Given the description of an element on the screen output the (x, y) to click on. 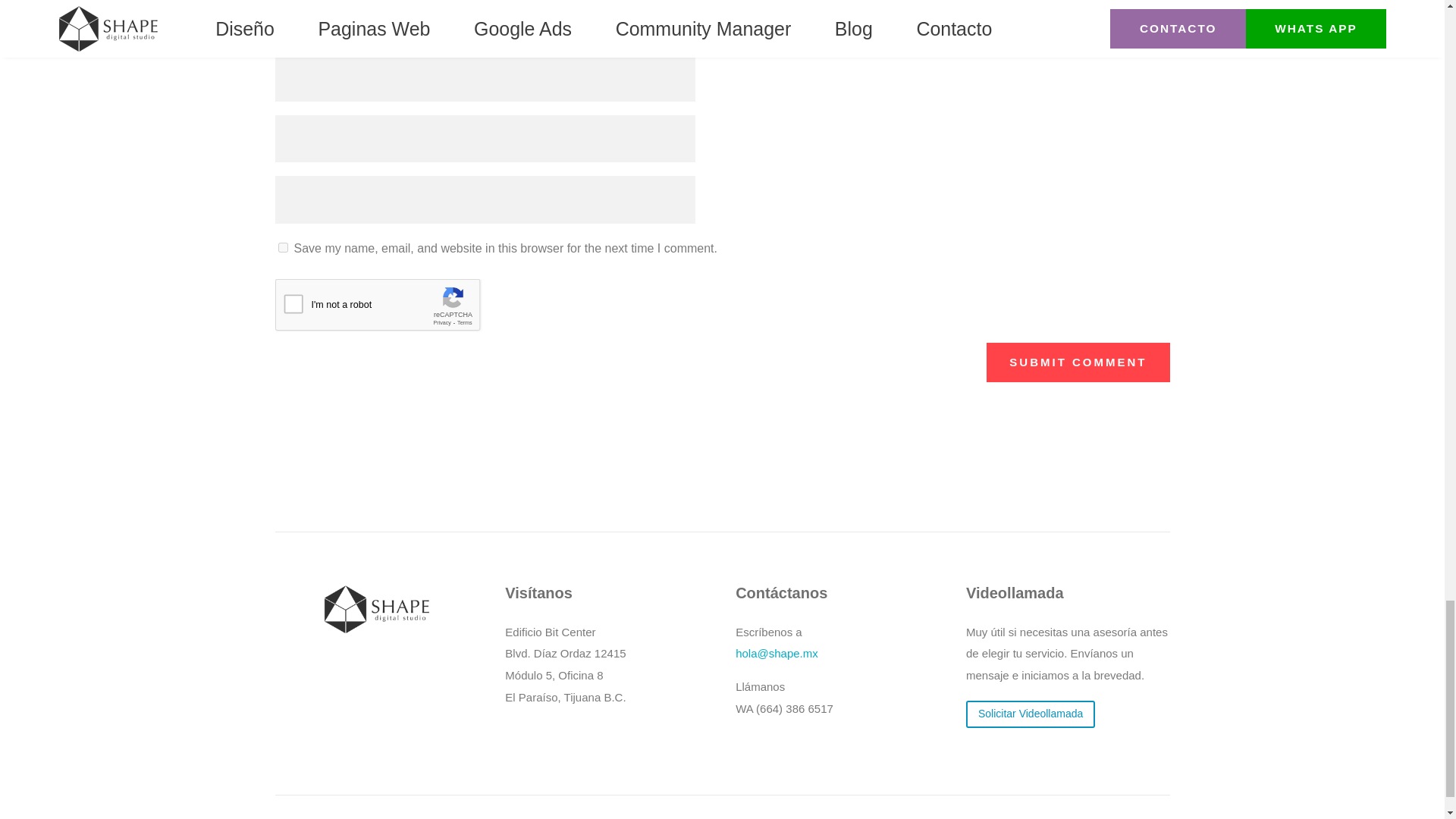
SUBMIT COMMENT (1078, 362)
logo-shape-asimetrico-gris (376, 609)
Solicitar Videollamada (1030, 714)
reCAPTCHA (390, 308)
yes (282, 247)
